Given the description of an element on the screen output the (x, y) to click on. 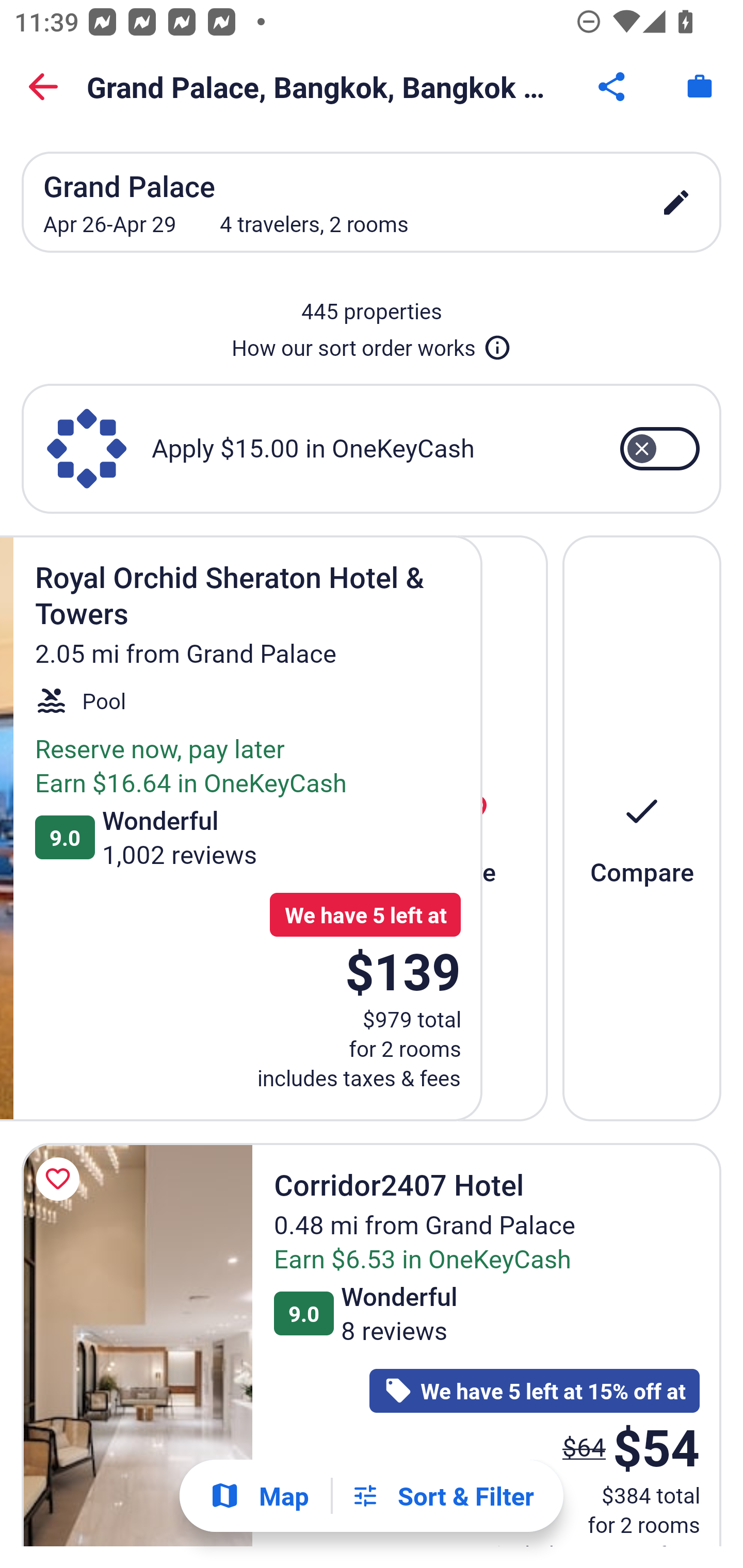
Back (43, 86)
Share Button (612, 86)
Trips. Button (699, 86)
How our sort order works (371, 344)
Compare (641, 827)
Save Corridor2407 Hotel to a trip (61, 1179)
Corridor2407 Hotel (136, 1344)
$64 The price was $64 (583, 1446)
Filters Sort & Filter Filters Button (442, 1495)
Show map Map Show map Button (258, 1495)
